Given the description of an element on the screen output the (x, y) to click on. 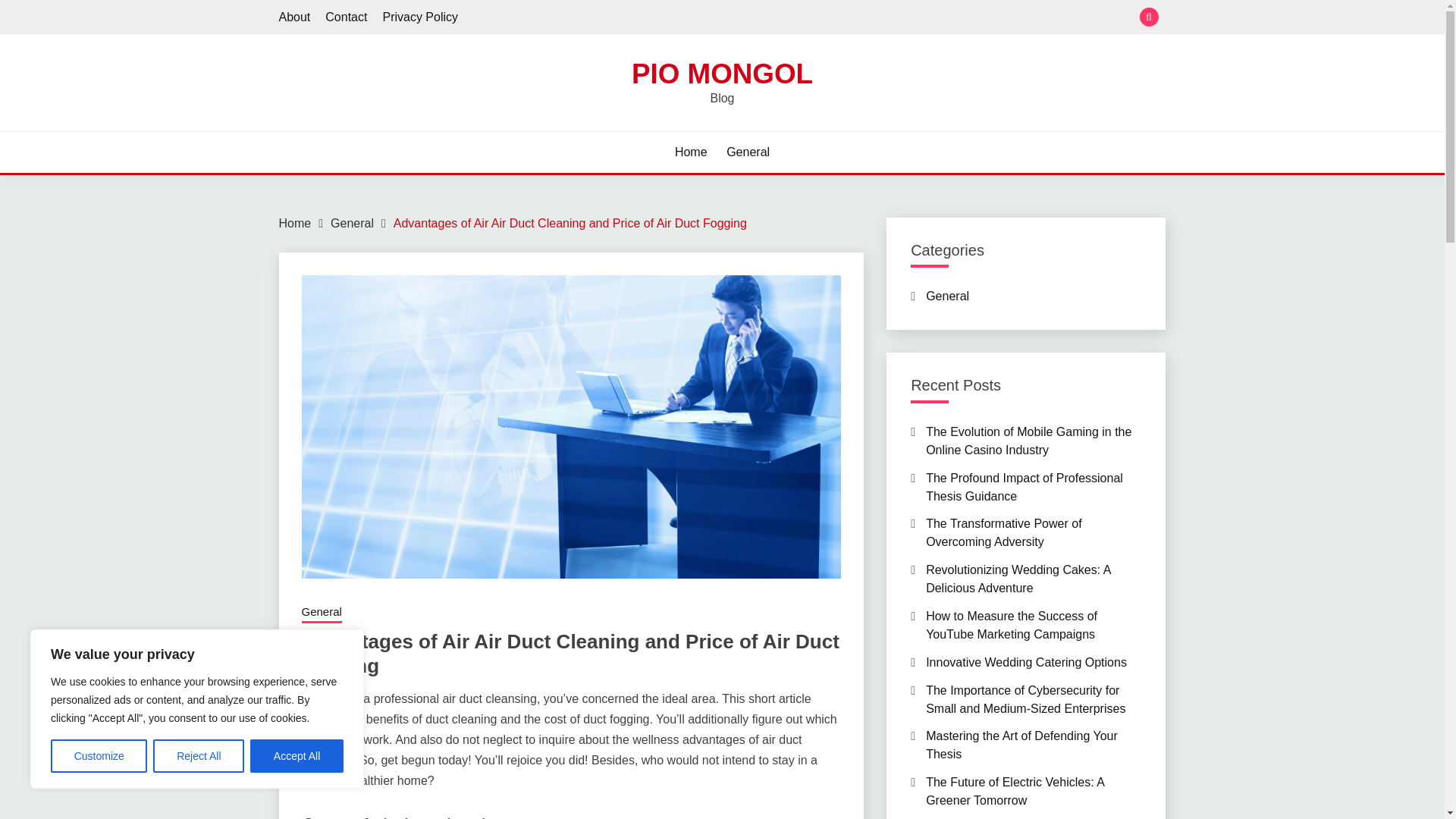
Accept All (296, 756)
Reject All (198, 756)
About (295, 16)
Contact (345, 16)
General (748, 152)
Home (295, 223)
Privacy Policy (419, 16)
Customize (98, 756)
General (321, 613)
General (352, 223)
Home (691, 152)
PIO MONGOL (721, 73)
